Given the description of an element on the screen output the (x, y) to click on. 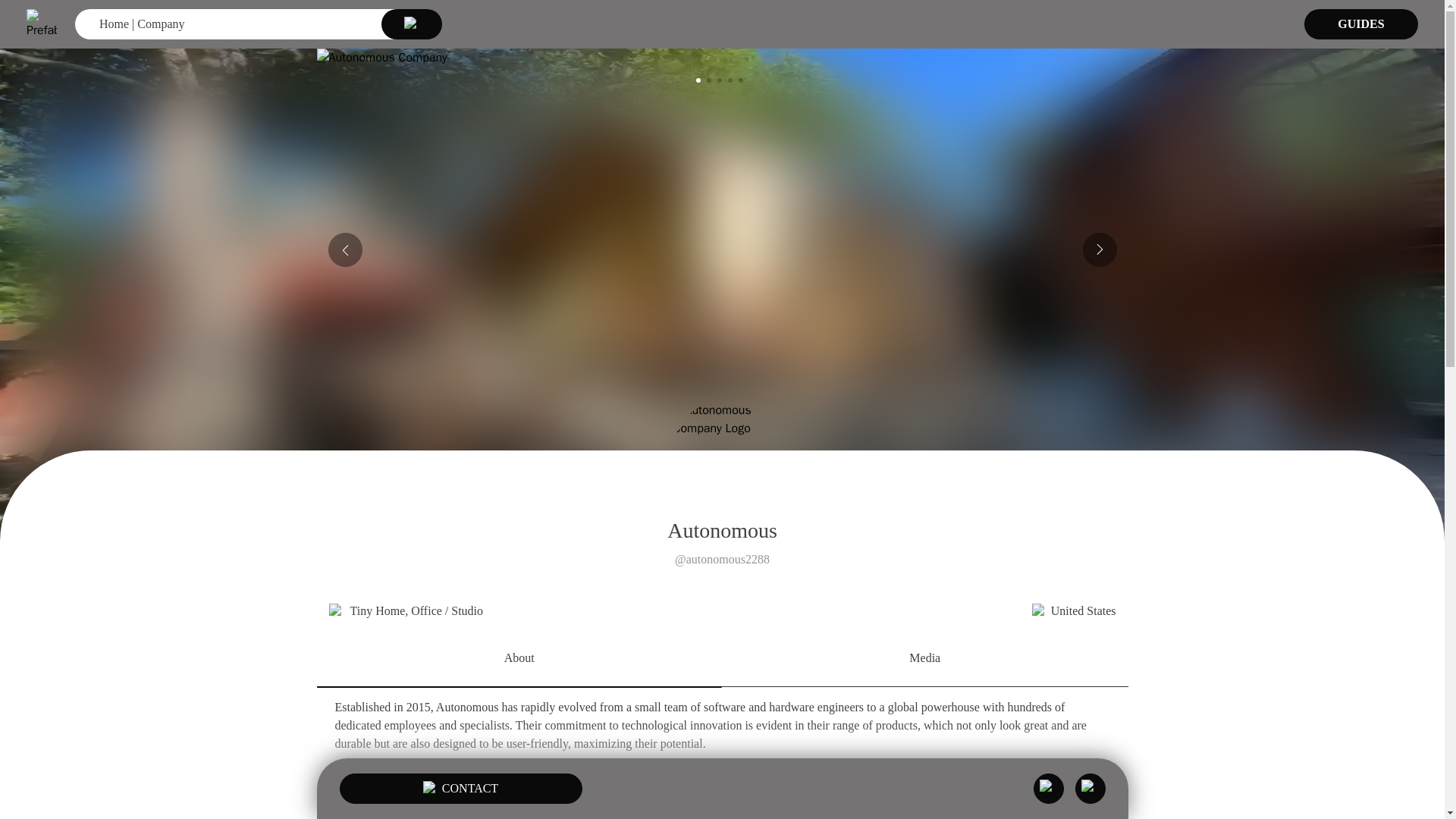
About (519, 660)
GUIDES (1361, 24)
Media (924, 660)
